Given the description of an element on the screen output the (x, y) to click on. 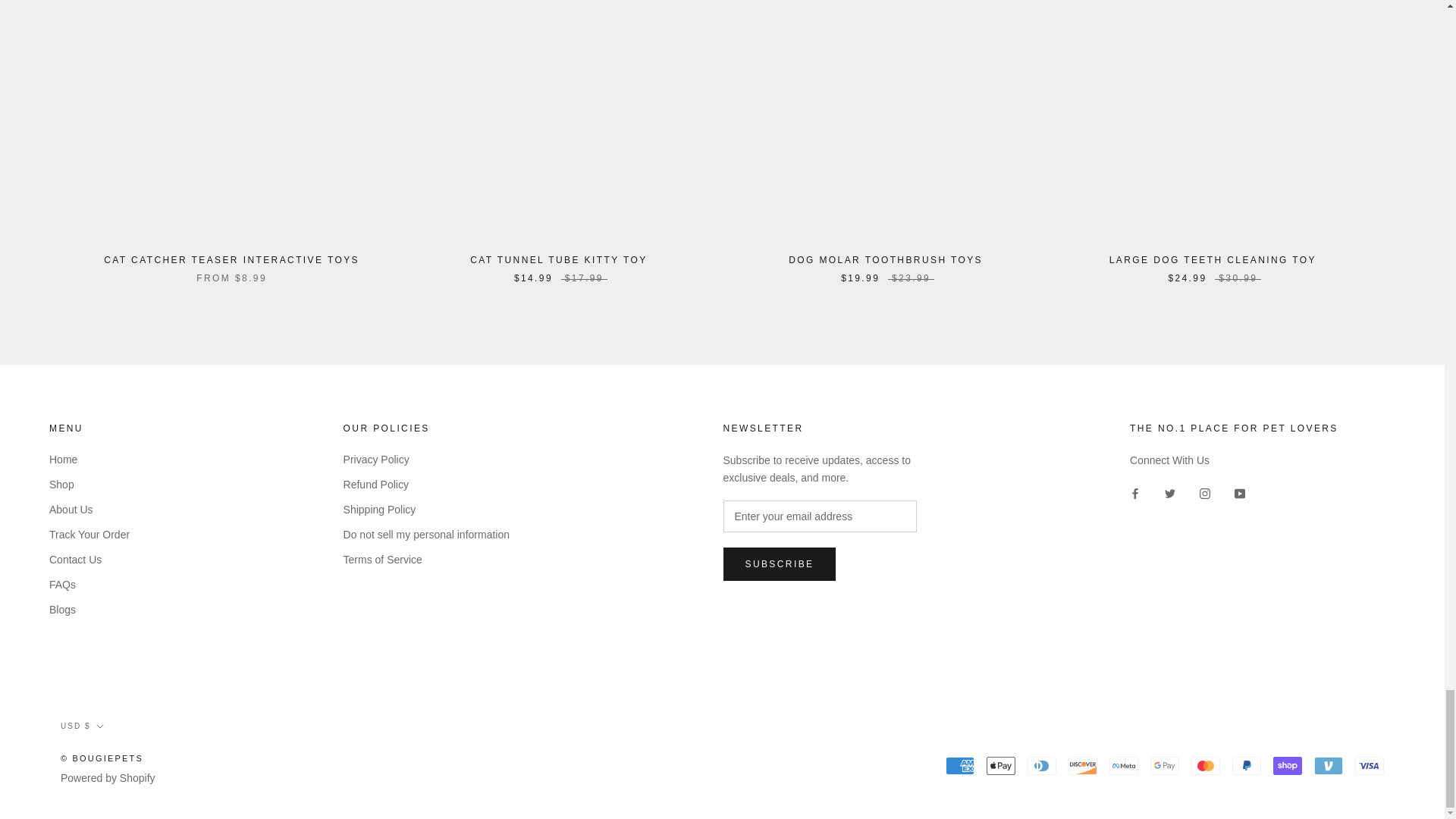
Discover (1082, 765)
Apple Pay (1000, 765)
Google Pay (1164, 765)
Meta Pay (1123, 765)
American Express (959, 765)
Diners Club (1042, 765)
